Given the description of an element on the screen output the (x, y) to click on. 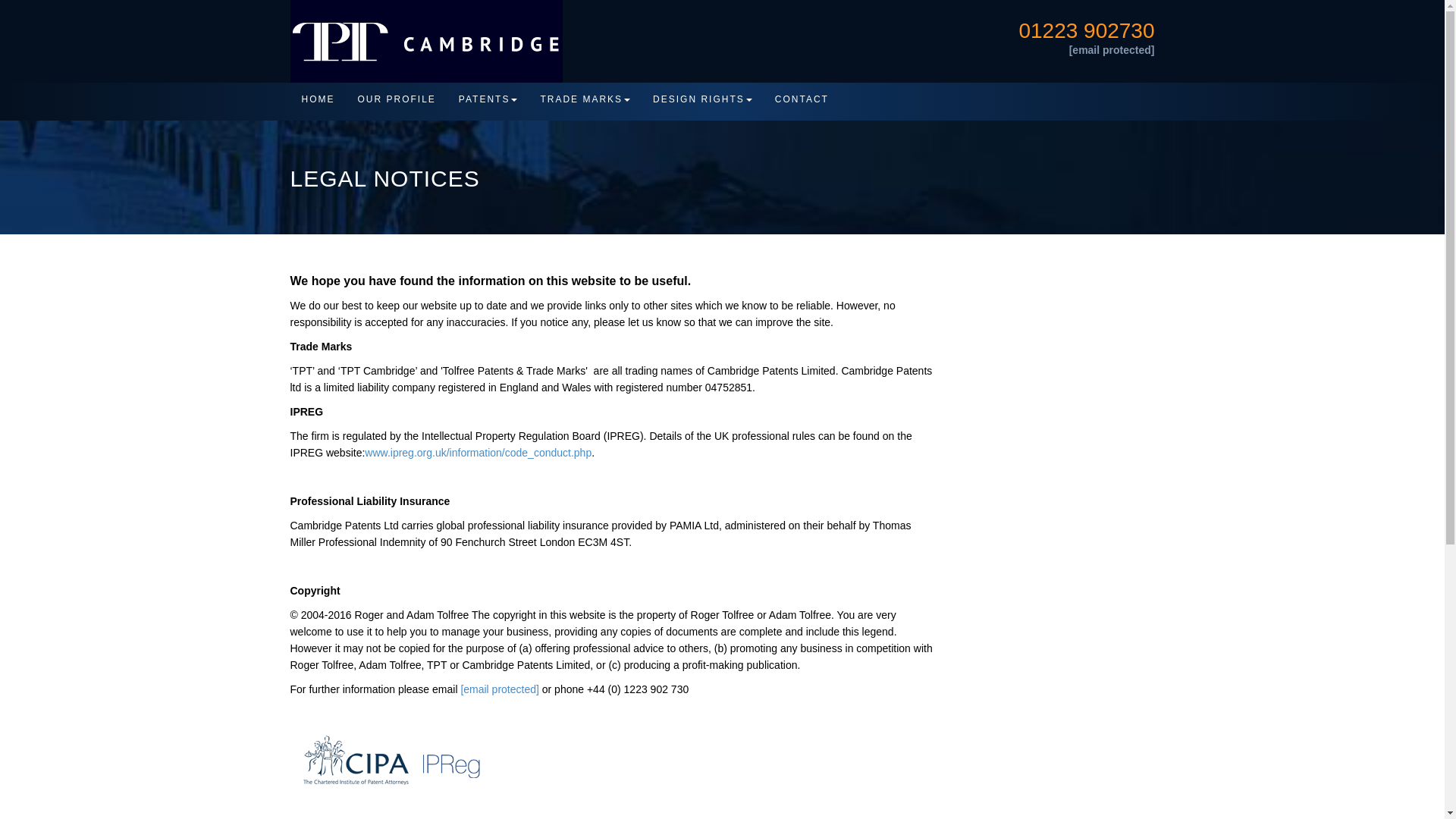
HOME (317, 99)
PATENTS (487, 99)
Cambridge Patents (1095, 101)
DESIGN RIGHTS (702, 99)
CONTACT (801, 99)
TRADE MARKS (585, 99)
OUR PROFILE (396, 99)
